Given the description of an element on the screen output the (x, y) to click on. 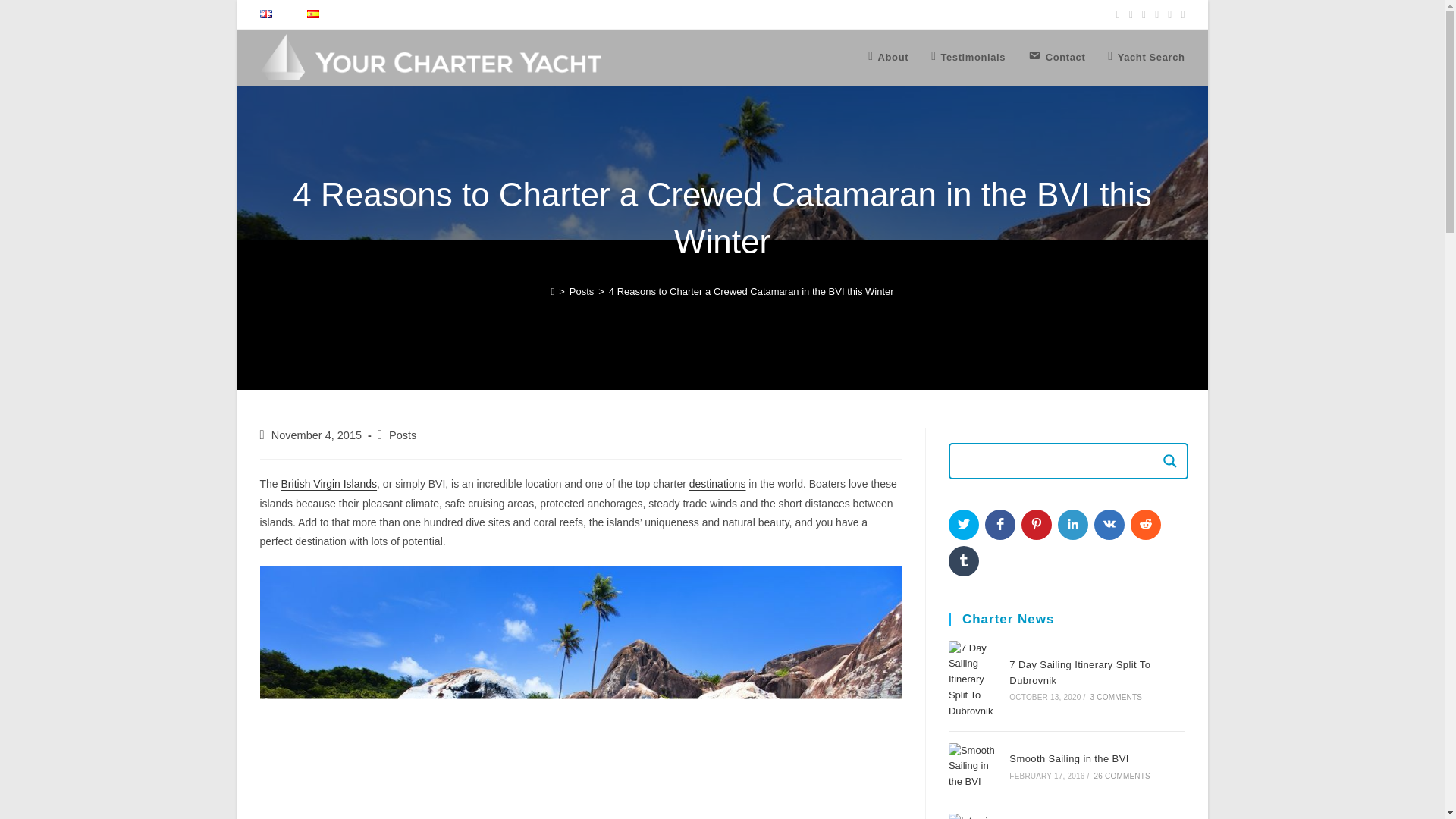
British Virgin Islands (329, 483)
destinations (716, 483)
Share on LinkedIn (1072, 524)
Share on Pinterest (1036, 524)
Share on Reddit (1145, 524)
Share on Facebook (999, 524)
Testimonials (968, 57)
Contact (1056, 57)
About (888, 57)
